Given the description of an element on the screen output the (x, y) to click on. 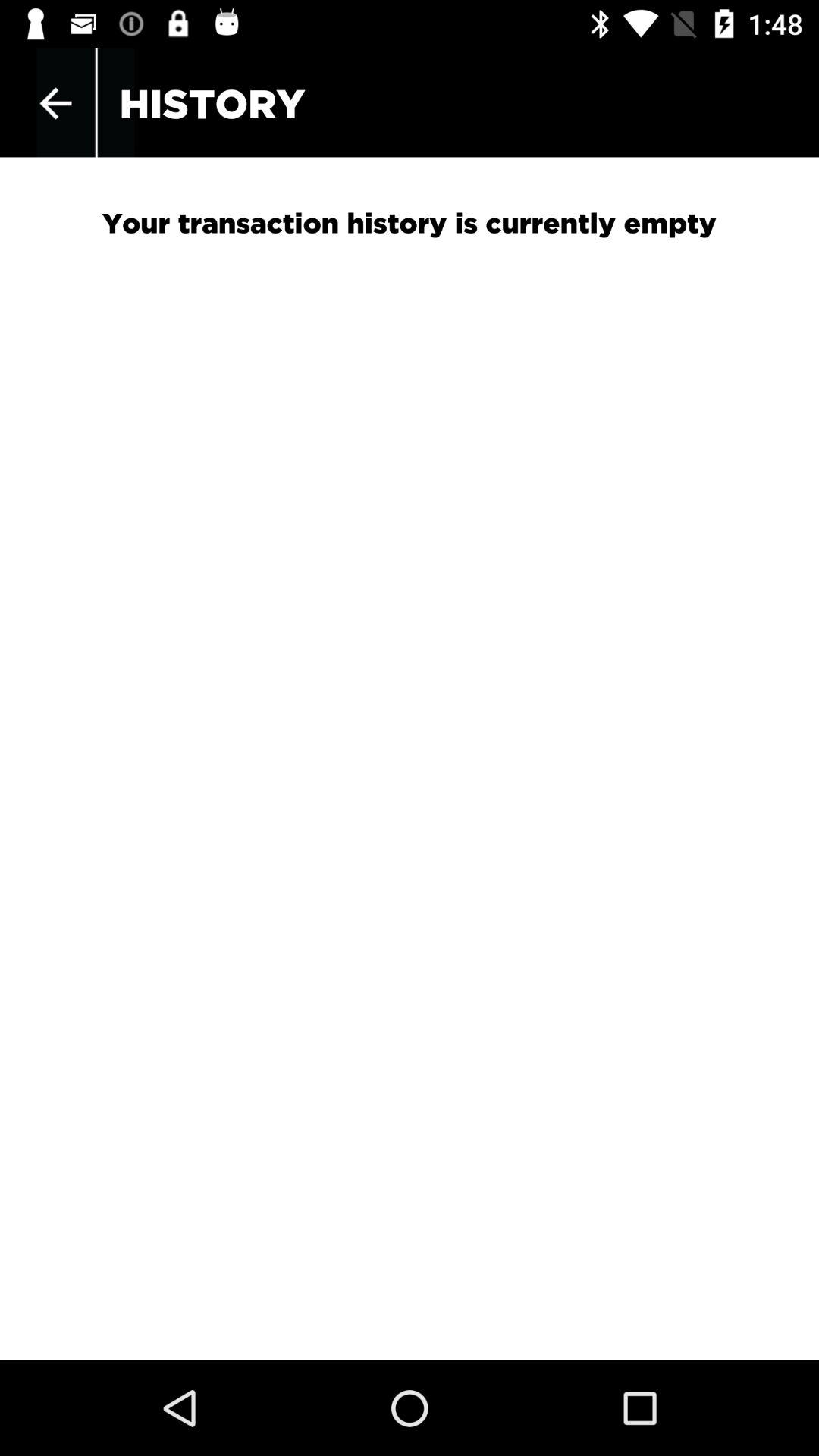
launch icon above your transaction history item (55, 103)
